Given the description of an element on the screen output the (x, y) to click on. 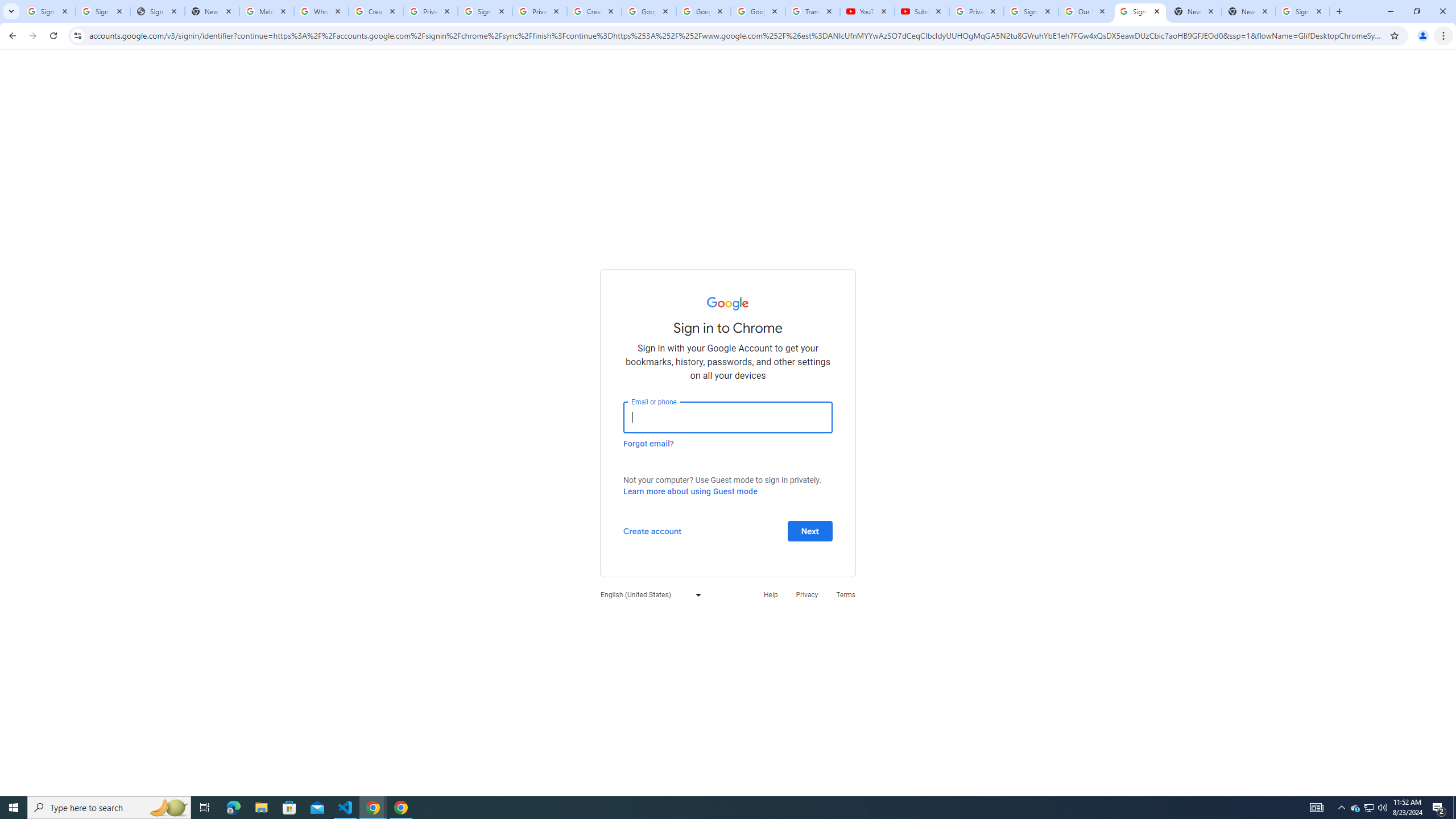
Sign in - Google Accounts (48, 11)
Sign In - USA TODAY (157, 11)
Sign in - Google Accounts (102, 11)
Sign in - Google Accounts (1030, 11)
Subscriptions - YouTube (921, 11)
Sign in - Google Accounts (484, 11)
YouTube (866, 11)
Google Account (757, 11)
